Given the description of an element on the screen output the (x, y) to click on. 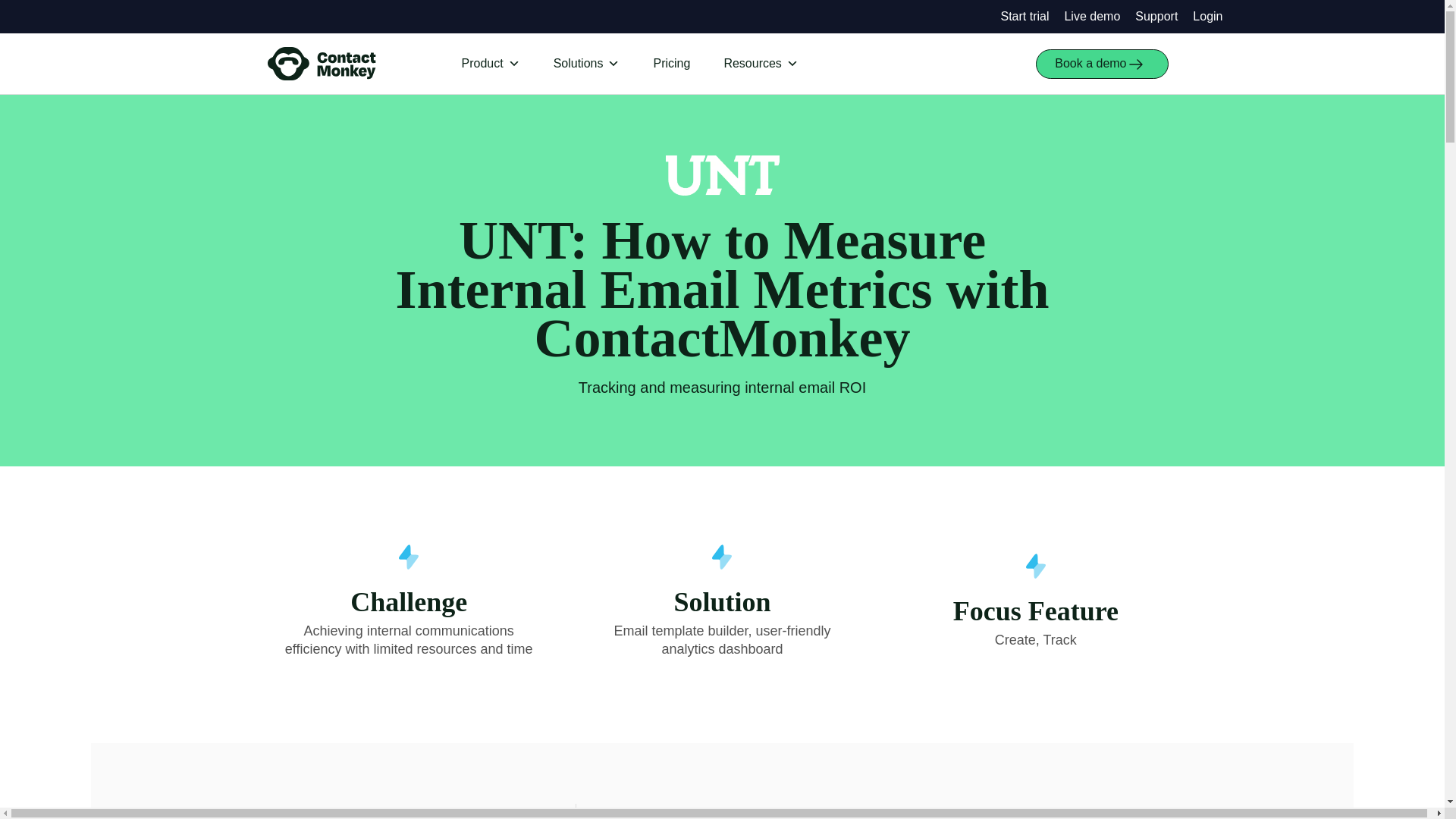
Live demo (1091, 15)
Start trial (1024, 15)
Resources (760, 63)
ContactMonkey (320, 63)
Product (489, 63)
Solutions (586, 63)
Login (1207, 15)
Support (1156, 15)
Pricing (670, 63)
